Given the description of an element on the screen output the (x, y) to click on. 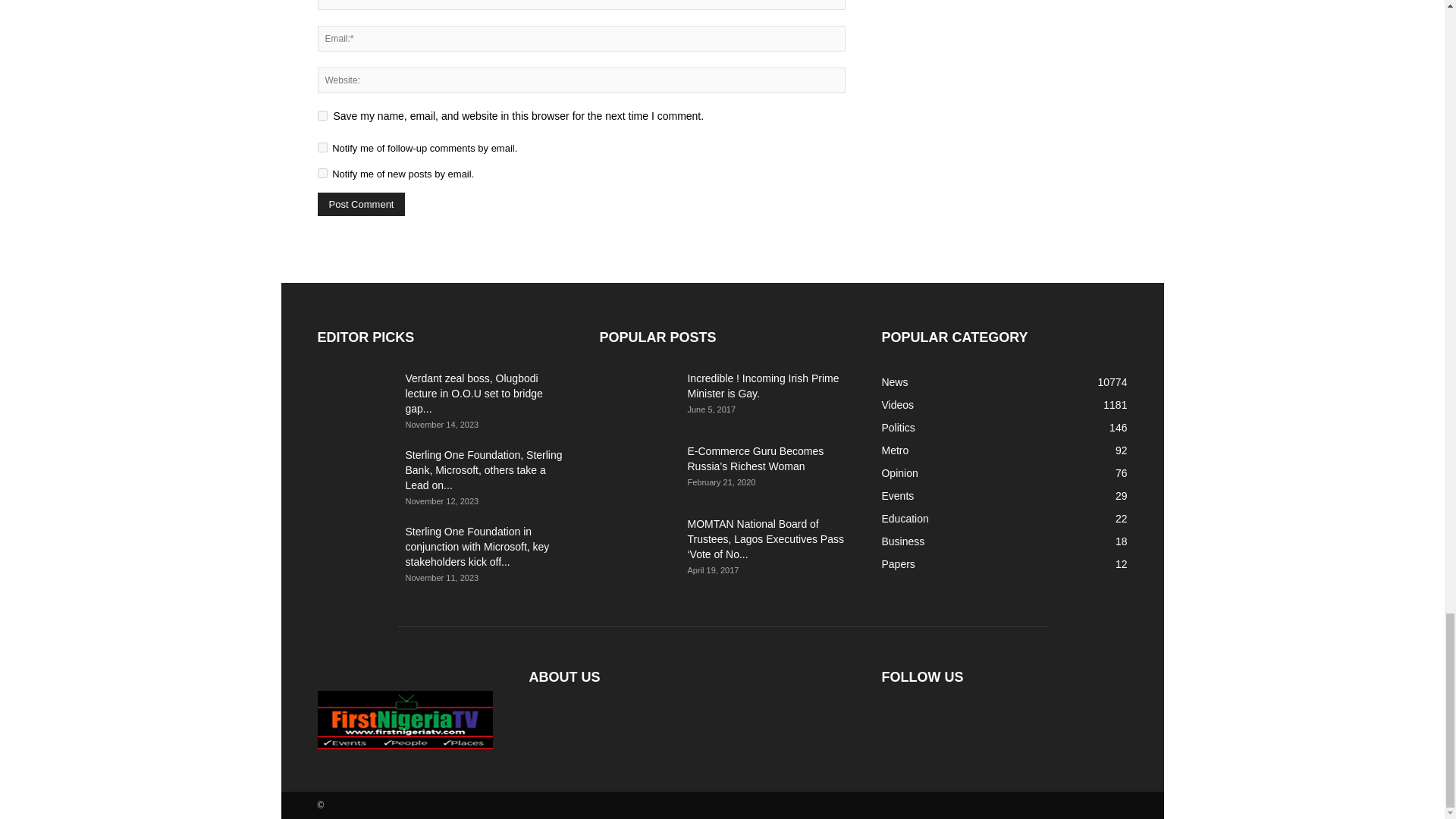
subscribe (321, 173)
subscribe (321, 147)
Post Comment (360, 204)
yes (321, 115)
